Given the description of an element on the screen output the (x, y) to click on. 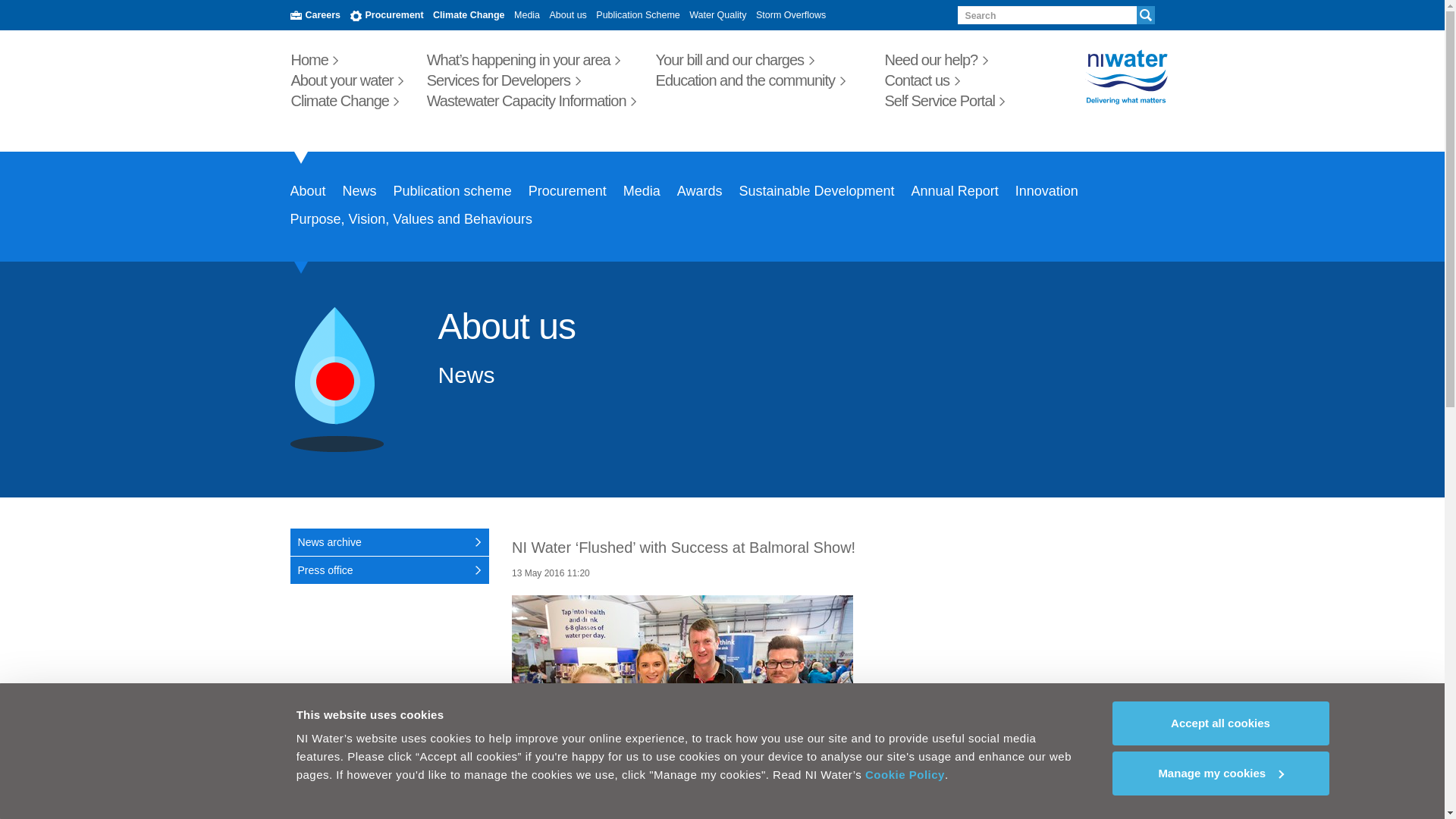
go to homepage (1091, 76)
Accept all cookies (1219, 723)
Manage my cookies (1219, 772)
Cookie Policy (904, 774)
